Given the description of an element on the screen output the (x, y) to click on. 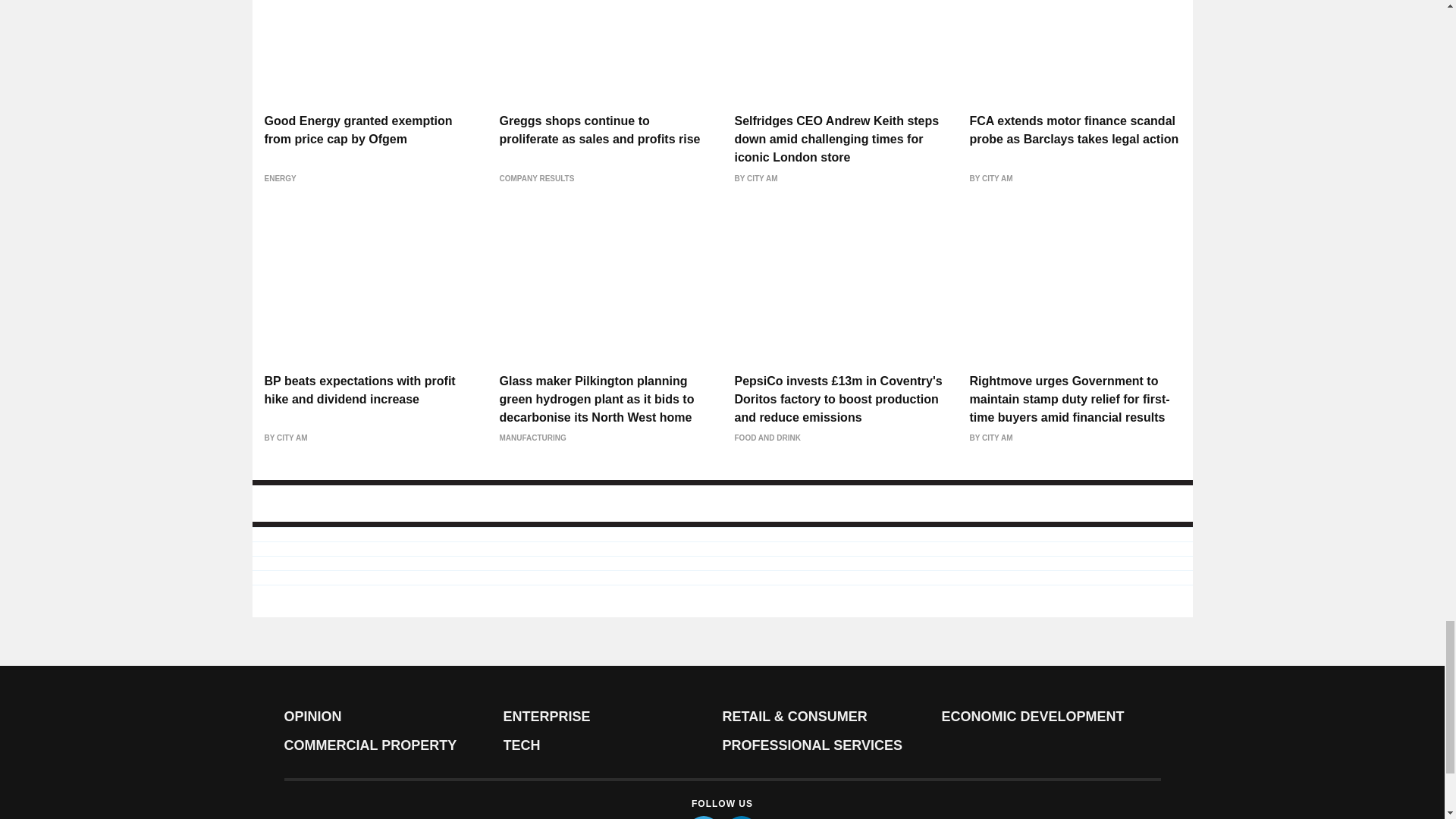
linkedin (741, 817)
twitter (703, 817)
